Given the description of an element on the screen output the (x, y) to click on. 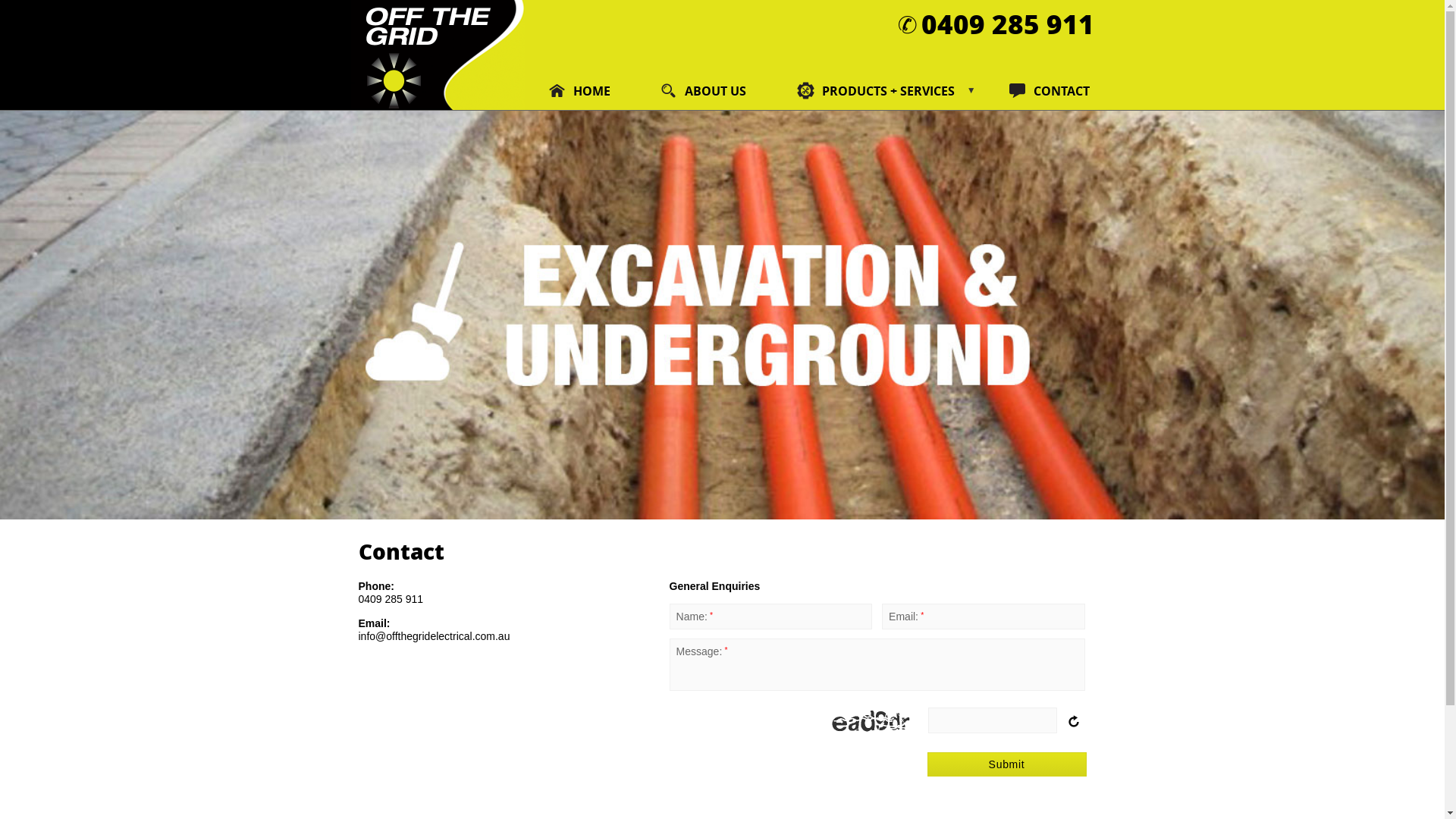
CONTACT Element type: text (1039, 90)
Submit Element type: text (1005, 764)
0409 285 911 Element type: text (1006, 23)
ABOUT US Element type: text (705, 90)
HOME Element type: text (580, 90)
PRODUCTS + SERVICES Element type: text (879, 90)
info@offthegridelectrical.com.au Element type: text (433, 636)
